Given the description of an element on the screen output the (x, y) to click on. 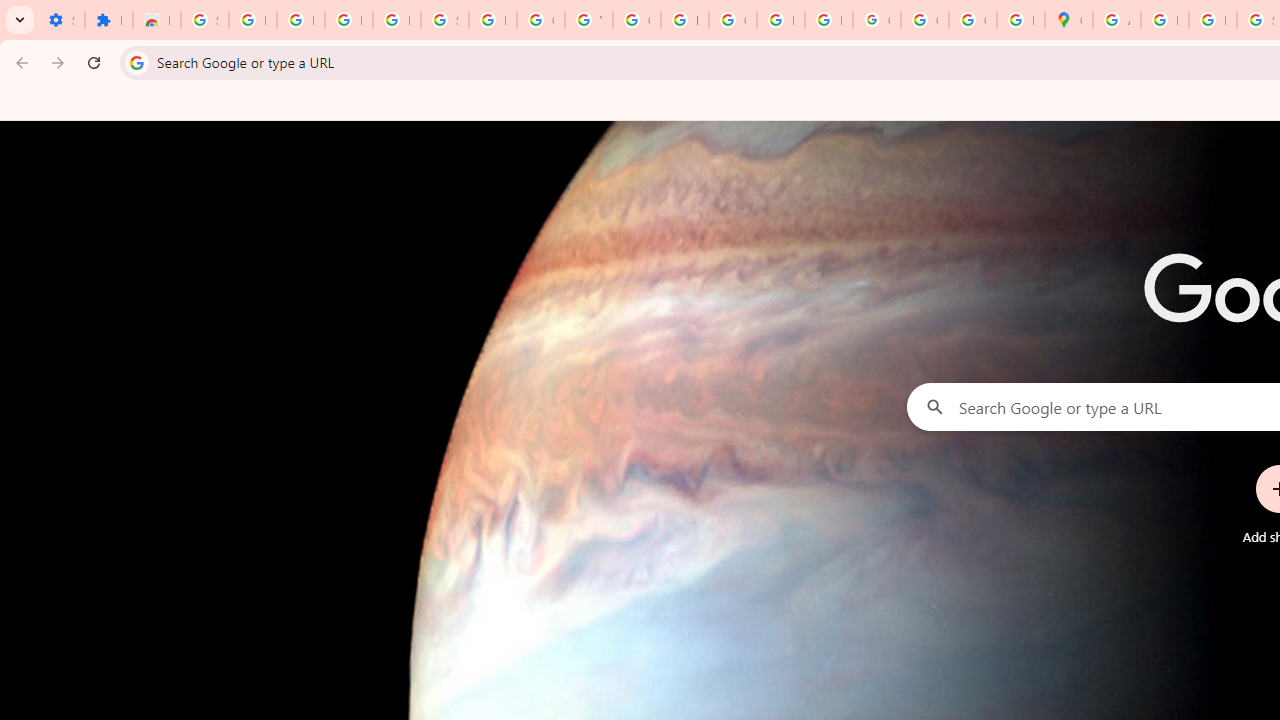
Sign in - Google Accounts (444, 20)
Google Maps (1068, 20)
Google Account (540, 20)
